Given the description of an element on the screen output the (x, y) to click on. 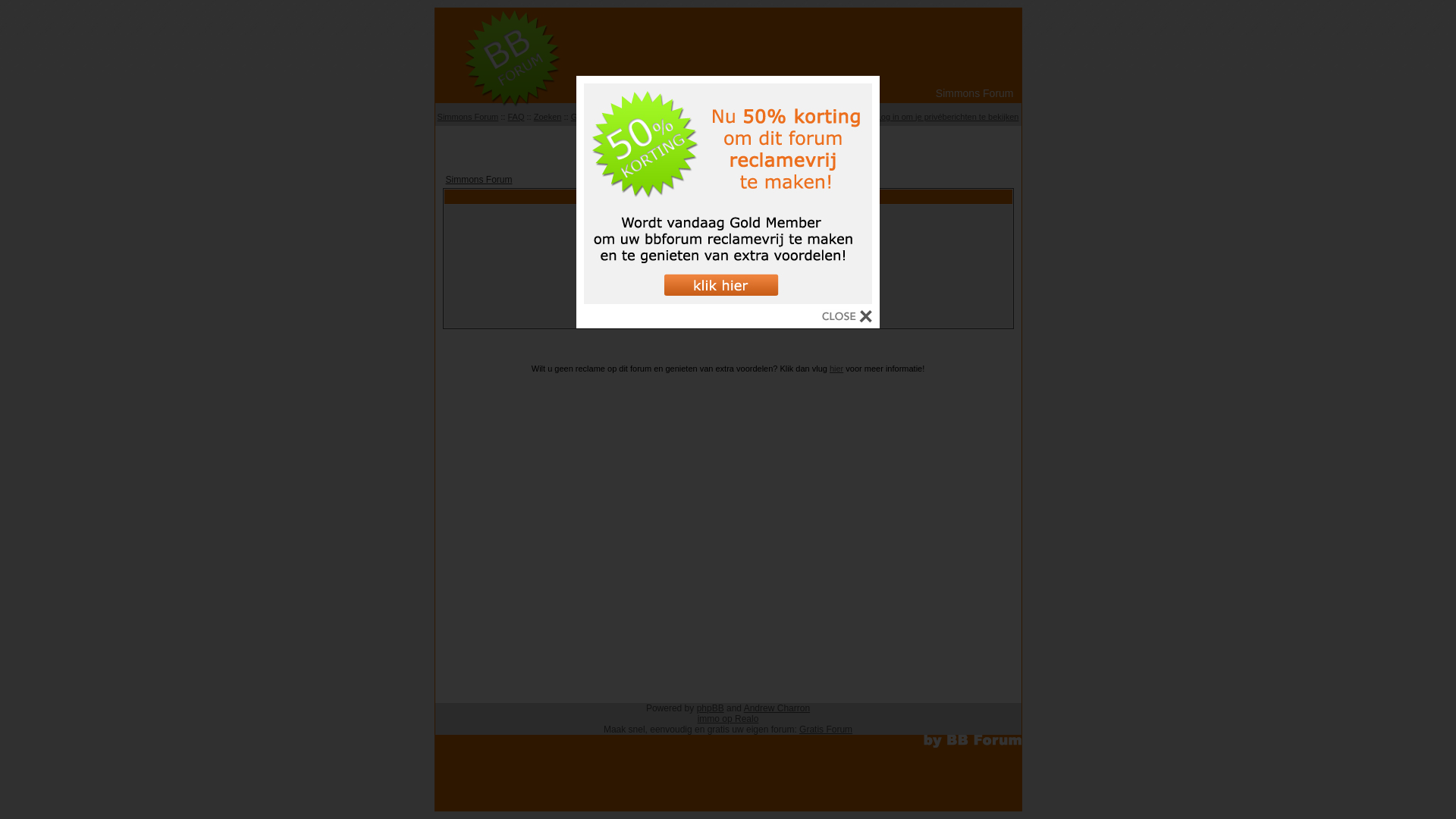
Simmons Forum Element type: text (467, 116)
Registreren Element type: text (771, 116)
Gebruikerslijst Element type: text (597, 116)
Gebruikersgroepen Element type: text (668, 116)
Inloggen Element type: text (818, 116)
Gratis Forum Element type: text (825, 729)
Inloggen Element type: text (727, 299)
phpBB Element type: text (710, 707)
Andrew Charron Element type: text (776, 707)
Simmons Forum Element type: text (478, 179)
Zoeken Element type: text (547, 116)
immo op Realo Element type: text (728, 718)
hier Element type: text (836, 368)
FAQ Element type: text (515, 116)
Profiel Element type: text (854, 116)
sluiten Element type: hover (847, 318)
Viraal Nieuws Element type: text (727, 144)
Ik ben mijn wachtwoord vergeten Element type: text (728, 316)
klik voor meer informatie Element type: hover (727, 299)
